Given the description of an element on the screen output the (x, y) to click on. 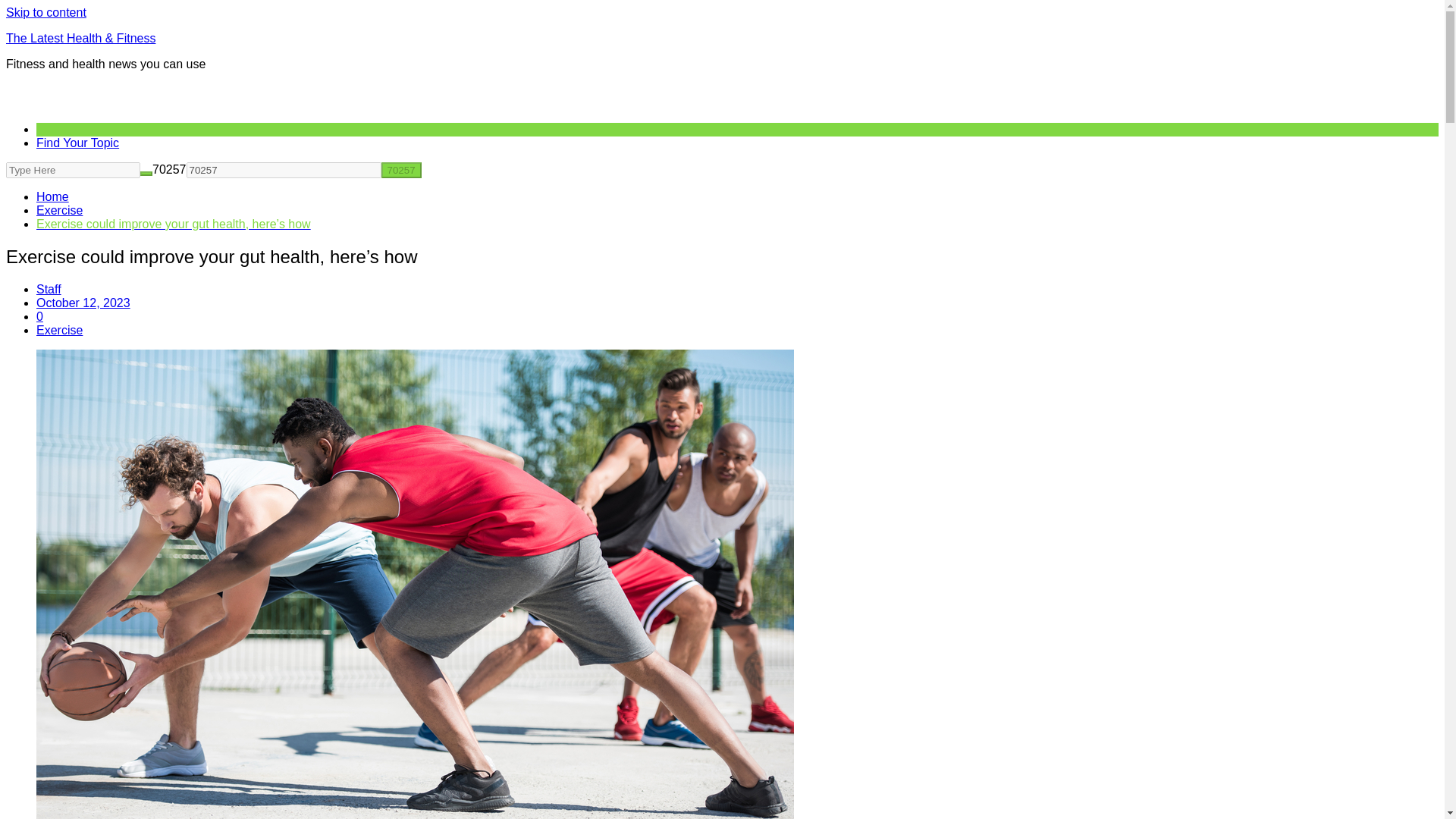
70257 (400, 170)
70257 (283, 170)
Staff (48, 288)
Exercise (59, 210)
70257 (283, 170)
Home (52, 196)
Find Your Topic (77, 142)
Exercise (59, 329)
70257 (400, 170)
70257 (400, 170)
